Given the description of an element on the screen output the (x, y) to click on. 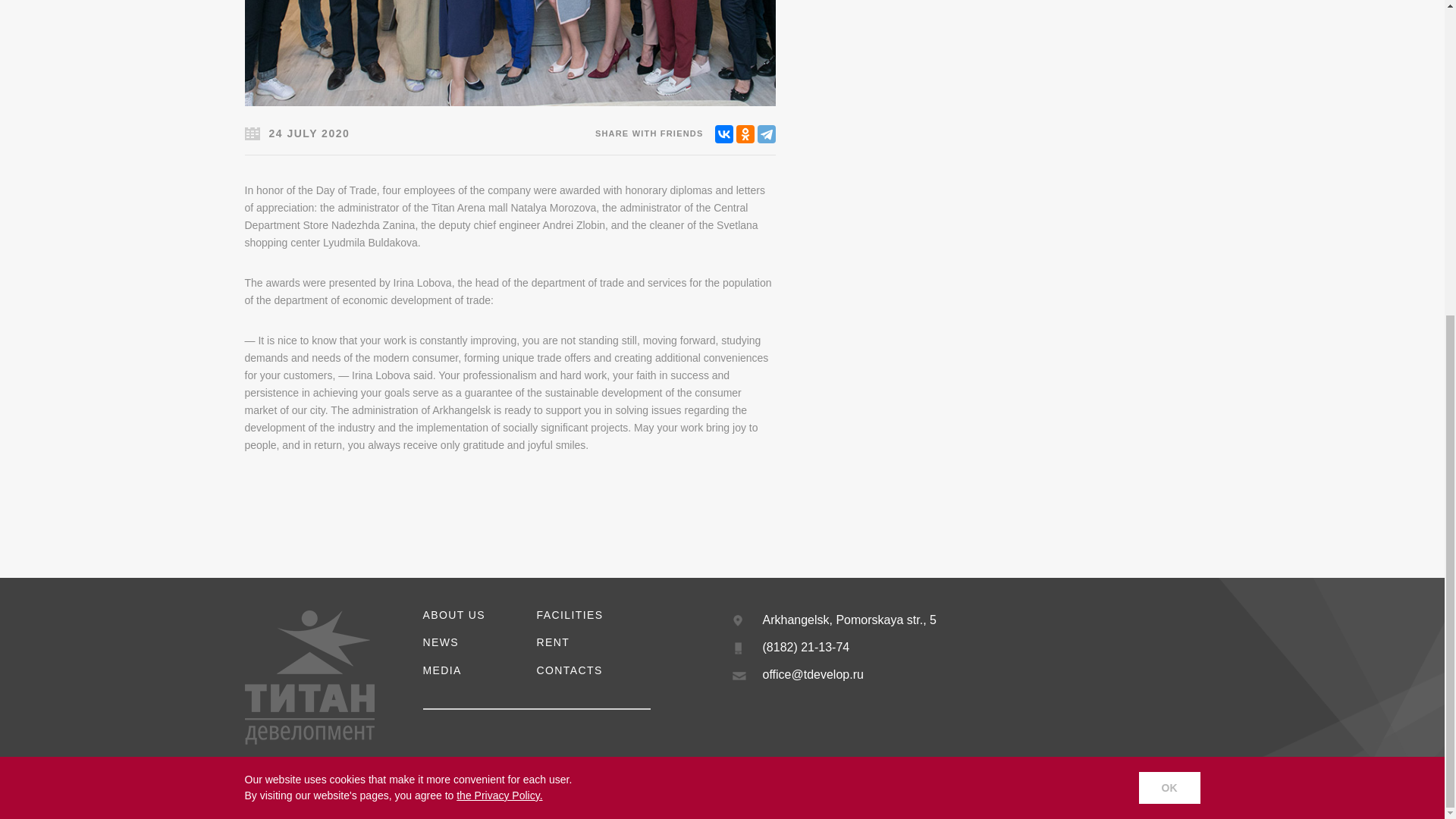
RENT (553, 642)
OK (1168, 282)
ABOUT US (454, 614)
CONTACTS (569, 670)
NEWS (441, 642)
Telegram (765, 134)
FACILITIES (846, 784)
MEDIA (570, 614)
the Privacy Policy. (442, 670)
